Given the description of an element on the screen output the (x, y) to click on. 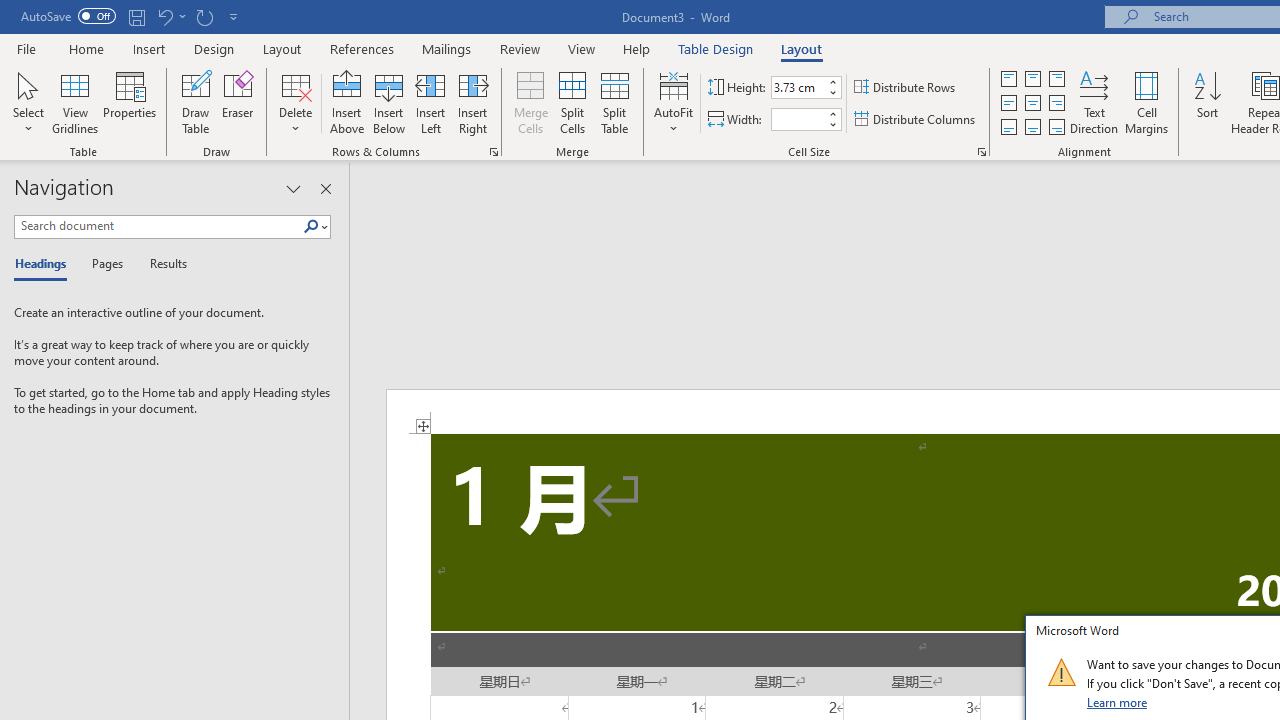
Merge Cells (530, 102)
Table Row Height (797, 87)
Headings (45, 264)
Align Top Right (1056, 78)
More (832, 113)
Customize Quick Access Toolbar (234, 15)
Distribute Rows (906, 87)
Eraser (237, 102)
Delete (296, 102)
References (362, 48)
Less (832, 124)
Results (161, 264)
Task Pane Options (293, 188)
Align Bottom Center (1032, 126)
